Given the description of an element on the screen output the (x, y) to click on. 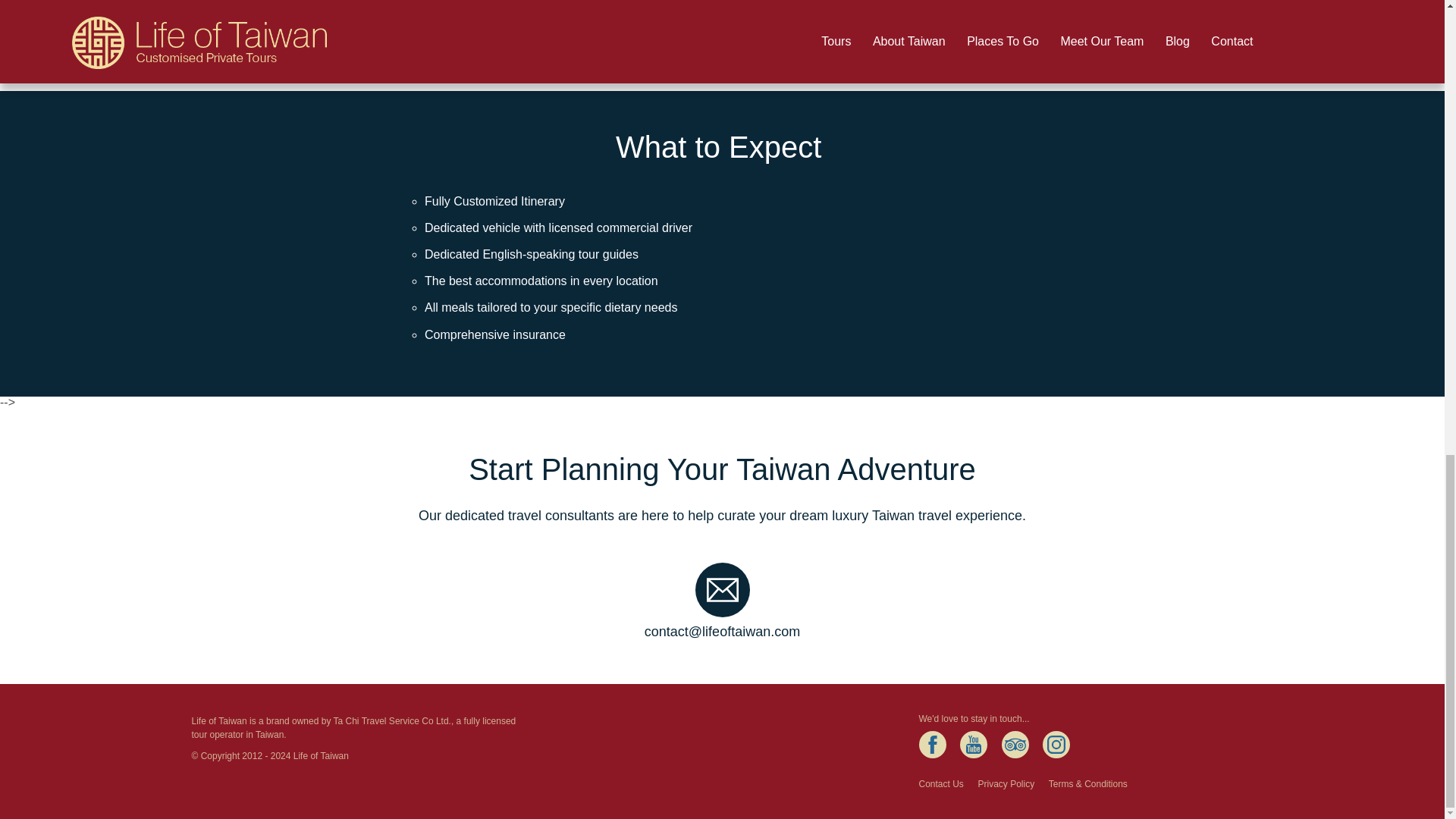
Get in touch (522, 7)
Instagram (1056, 744)
Privacy Policy (1004, 783)
Contact Us (940, 783)
Facebook (932, 744)
TripAdvisor (1015, 744)
YouTube (973, 744)
